Given the description of an element on the screen output the (x, y) to click on. 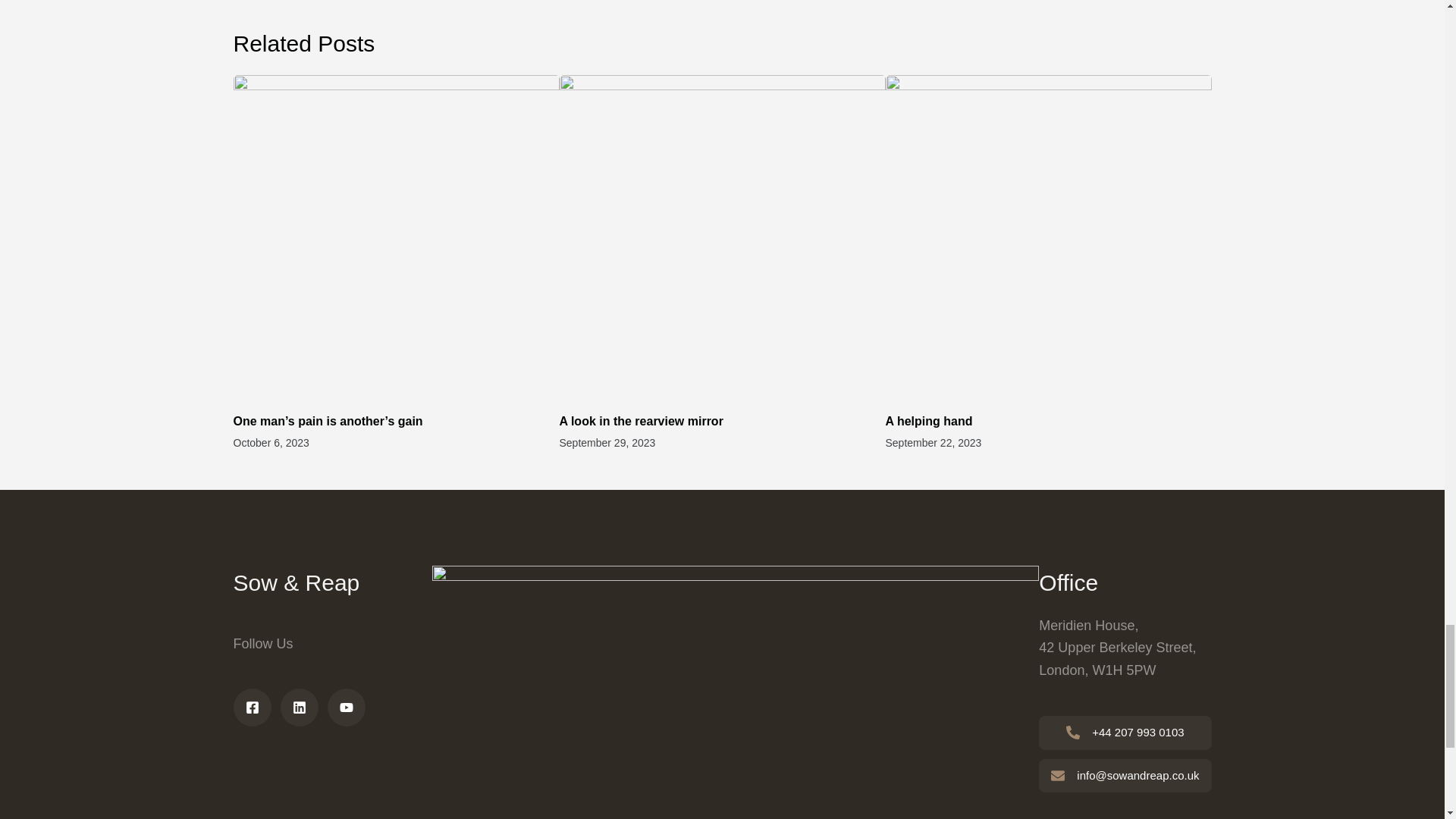
A look in the rearview mirror   (644, 420)
A helping hand (928, 420)
